Given the description of an element on the screen output the (x, y) to click on. 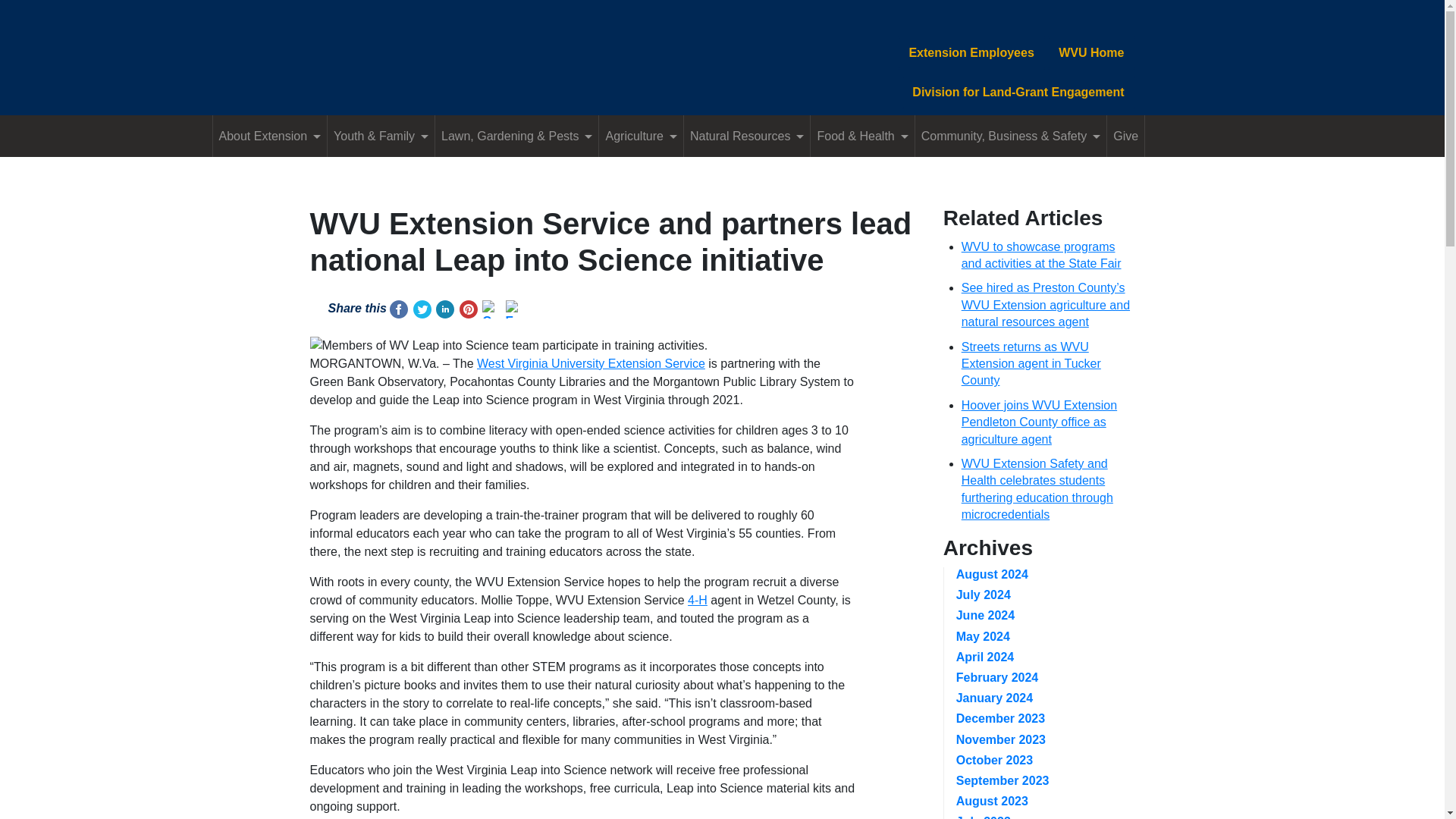
Share This (398, 309)
Division for Land-Grant Engagement (1017, 92)
Tweet This (421, 309)
Agriculture (640, 136)
Pin This (468, 309)
Link This (444, 309)
About Extension (270, 136)
Extension Employees (970, 52)
WVU Home (1091, 52)
Email This (514, 309)
